Given the description of an element on the screen output the (x, y) to click on. 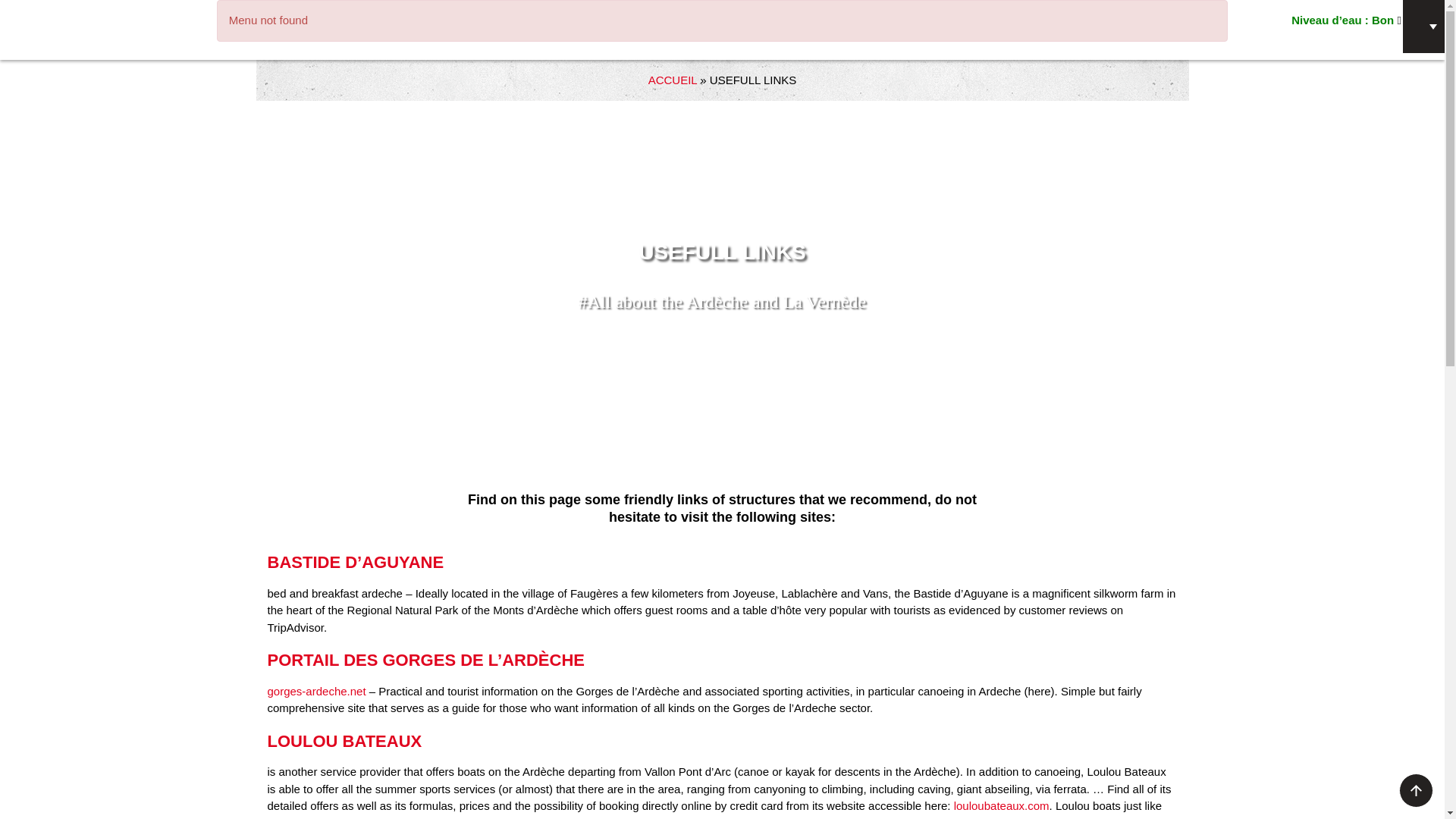
louloubateaux.com (1001, 805)
To Top (1416, 790)
ACCUEIL (672, 78)
LA VERNEDE (98, 24)
LOULOU BATEAUX (344, 741)
gorges-ardeche.net (315, 689)
